Given the description of an element on the screen output the (x, y) to click on. 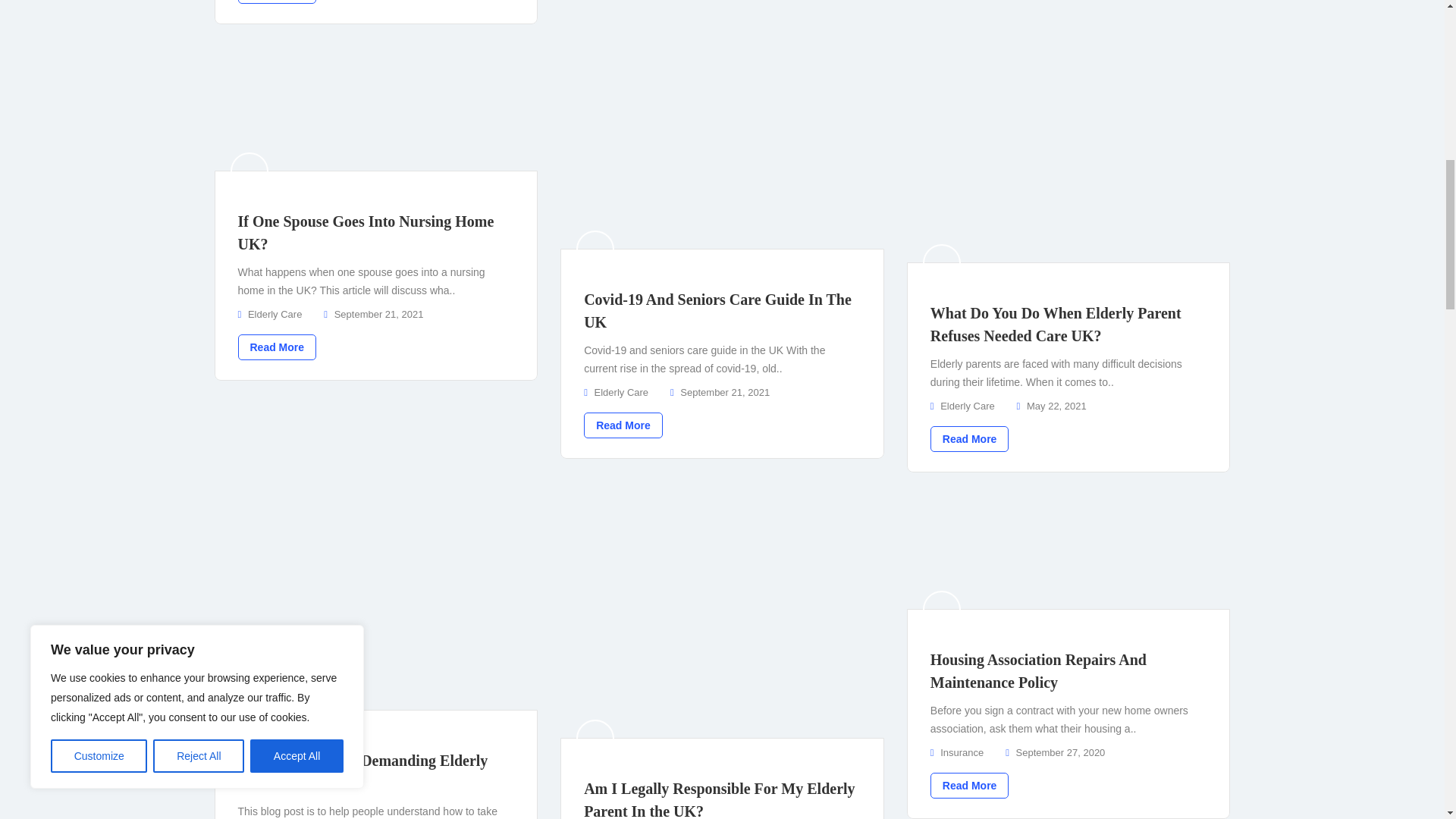
Read More (277, 2)
